Given the description of an element on the screen output the (x, y) to click on. 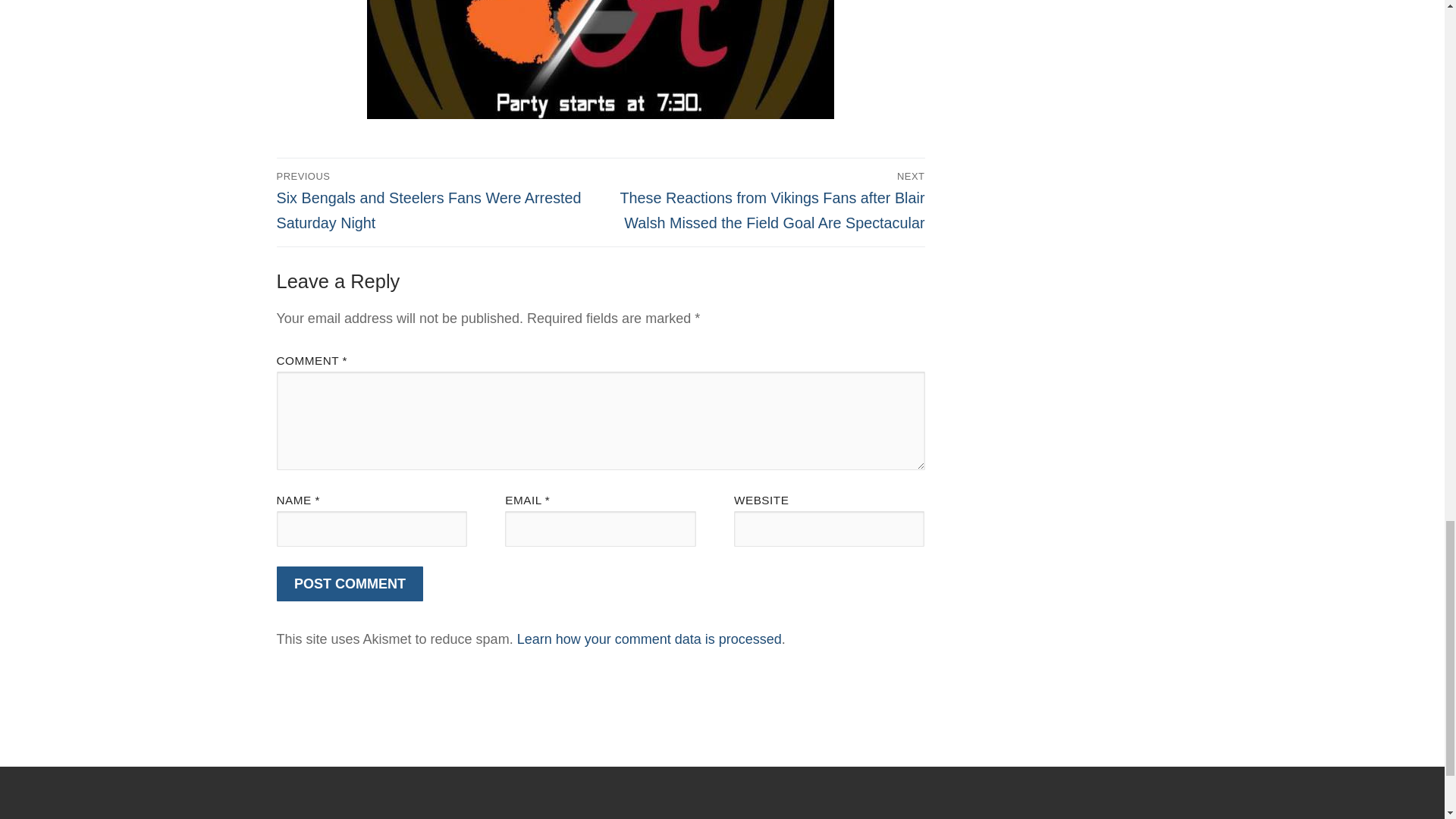
Post Comment (349, 583)
